Given the description of an element on the screen output the (x, y) to click on. 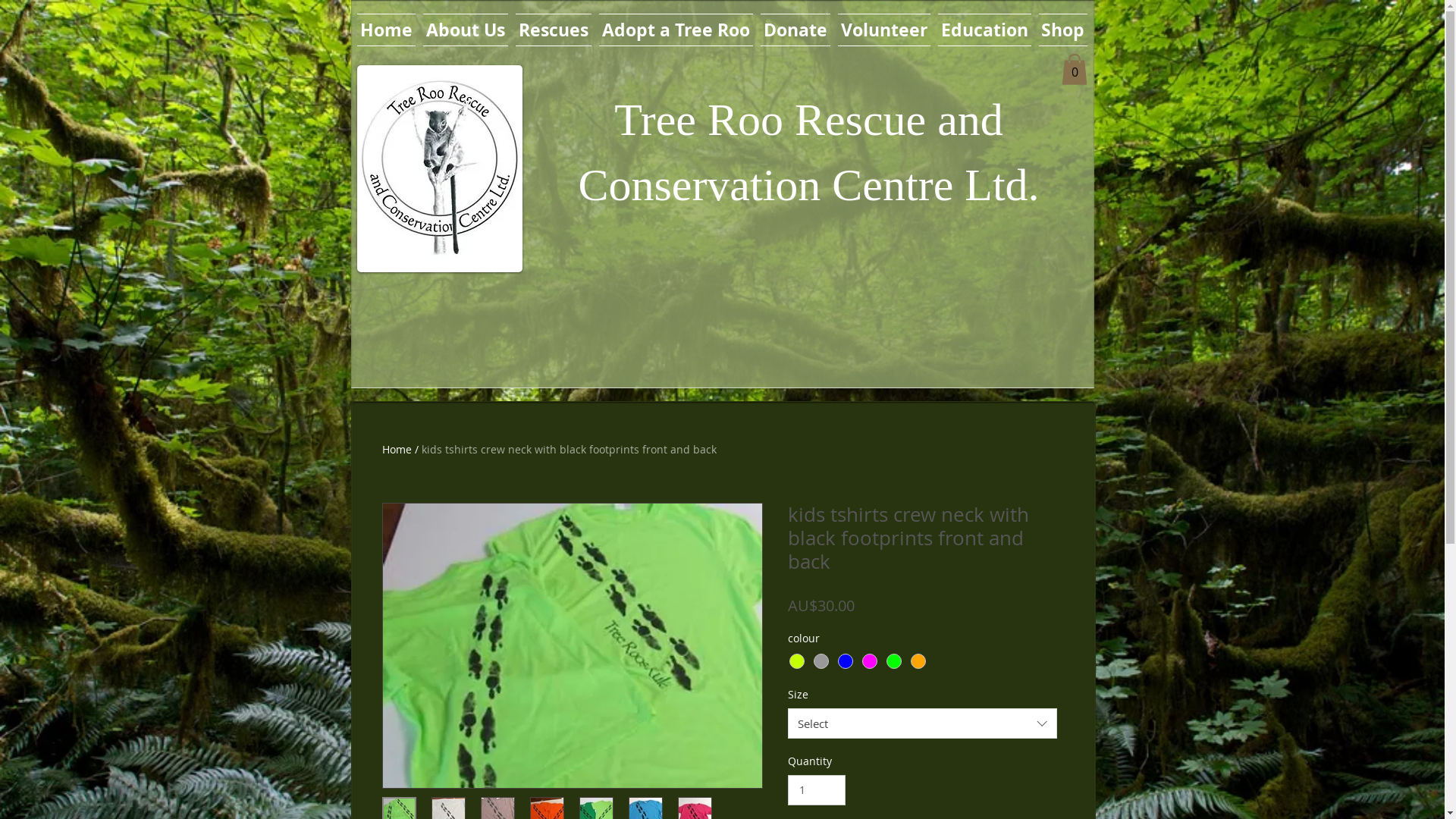
PayPal Button Element type: hover (786, 318)
About Us Element type: text (464, 29)
Donate Element type: text (795, 29)
Home Element type: text (387, 29)
Home Element type: text (396, 449)
Volunteer Element type: text (884, 29)
Adopt a Tree Roo Element type: text (675, 29)
Education Element type: text (984, 29)
0 Element type: text (1074, 68)
Rescues Element type: text (552, 29)
Select Element type: text (921, 723)
logo.png Element type: hover (438, 168)
kids tshirts crew neck with black footprints front and back Element type: text (568, 449)
Shop Element type: text (1060, 29)
